Given the description of an element on the screen output the (x, y) to click on. 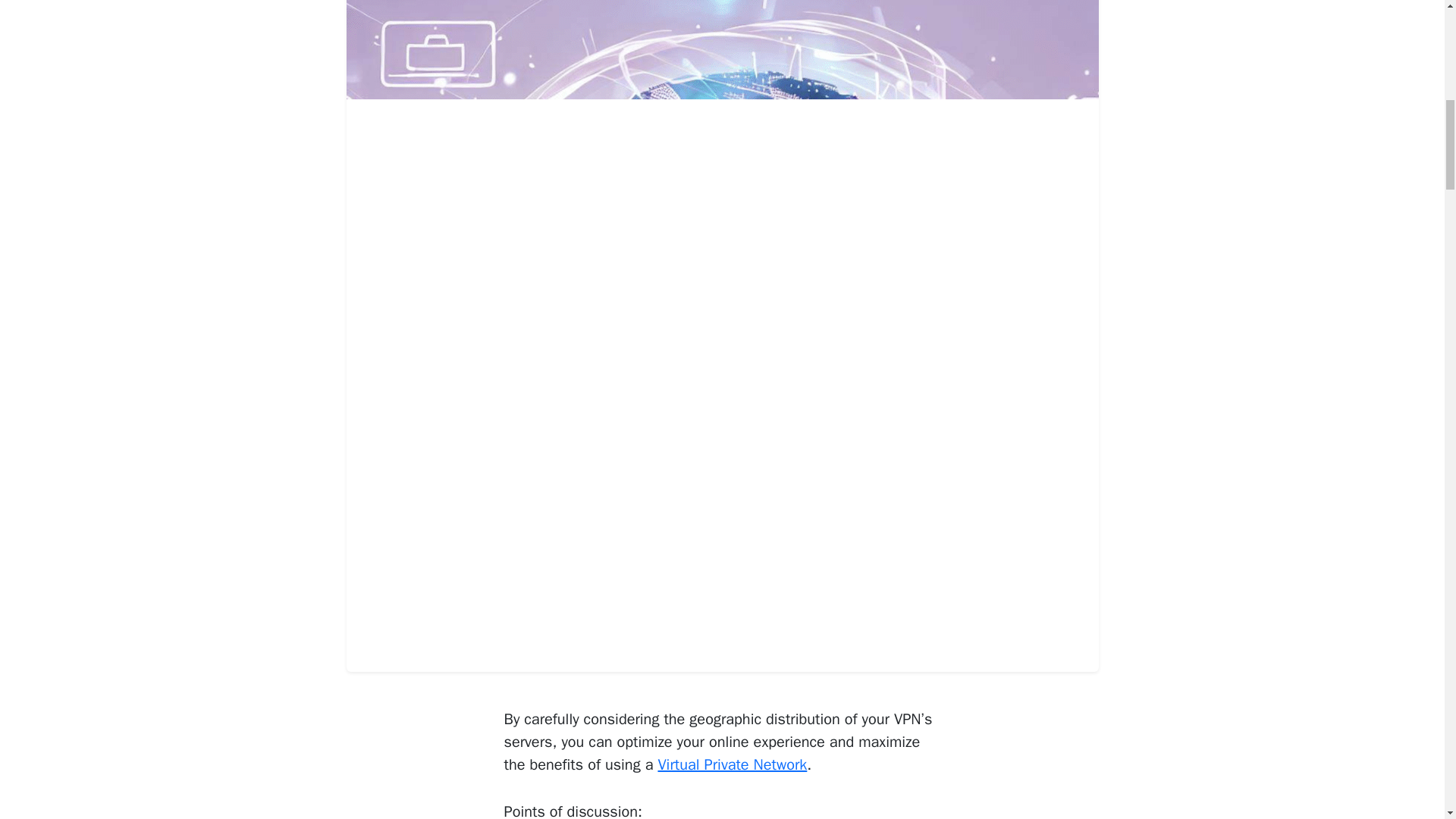
Virtual Private Network (732, 764)
